Given the description of an element on the screen output the (x, y) to click on. 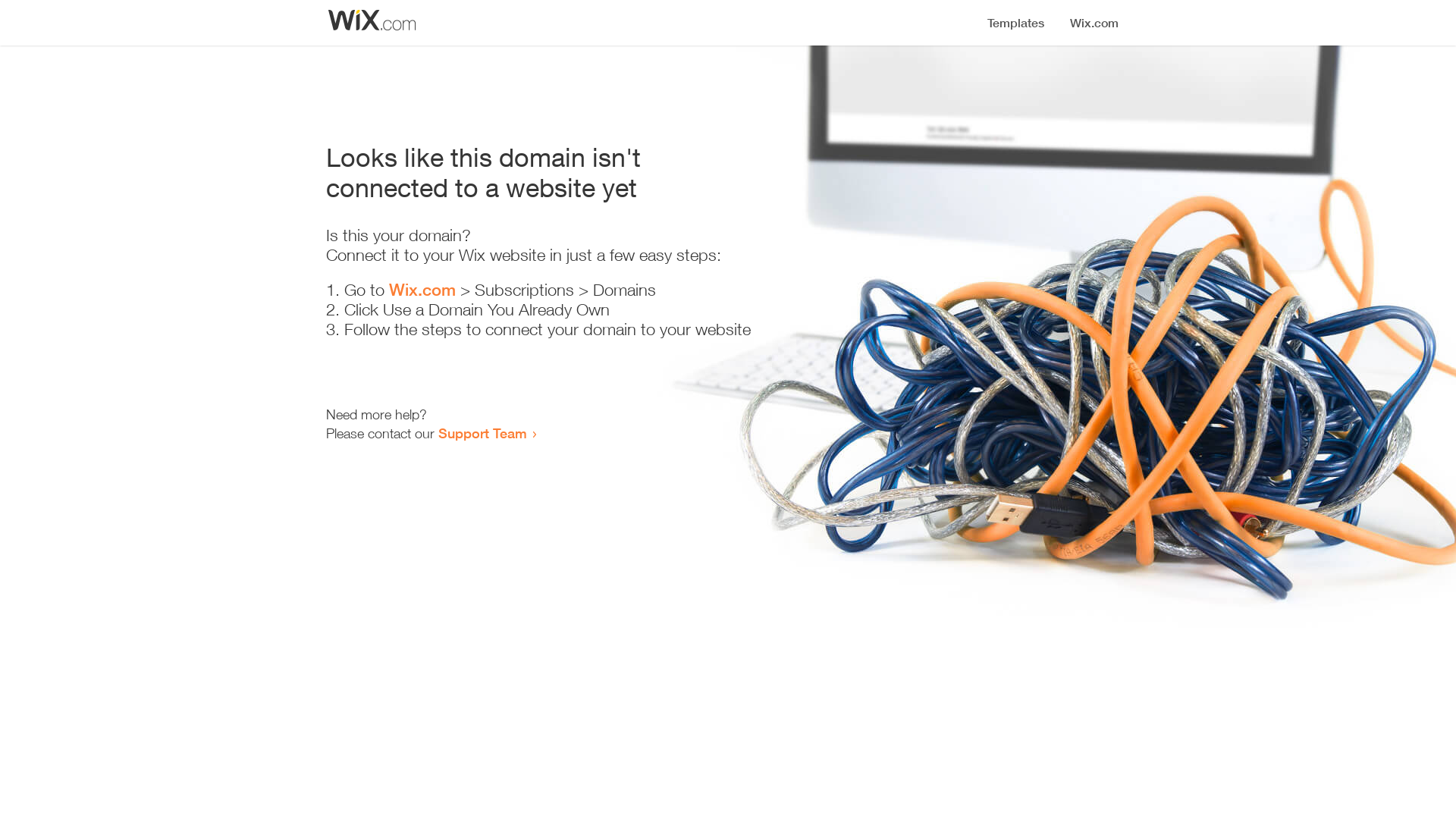
Wix.com Element type: text (422, 289)
Support Team Element type: text (482, 432)
